Given the description of an element on the screen output the (x, y) to click on. 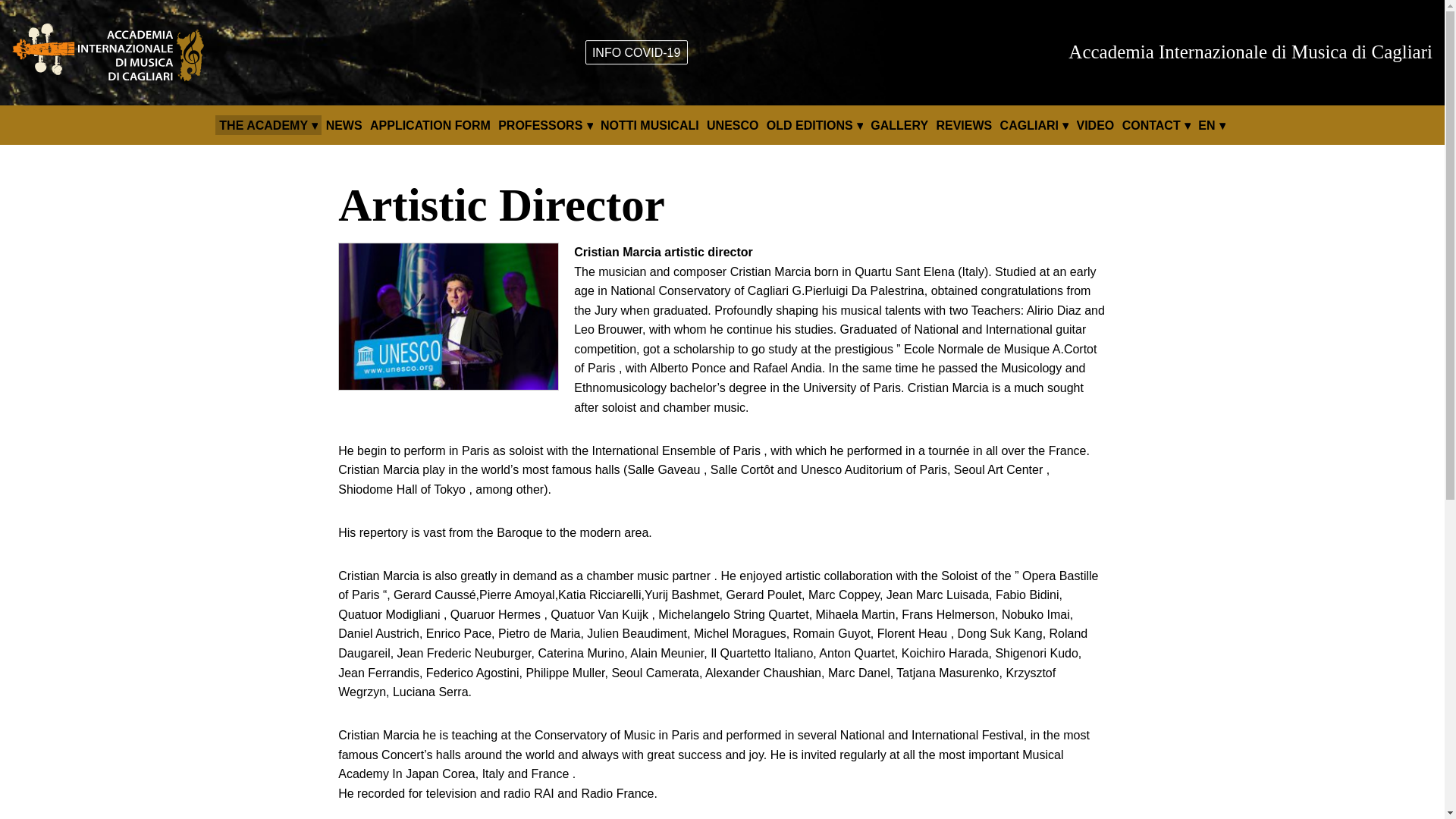
THE ACADEMY (268, 125)
INFO COVID-19 (636, 52)
PROFESSORS (544, 125)
NEWS (344, 125)
OLD EDITIONS (815, 125)
APPLICATION FORM (429, 125)
UNESCO (732, 125)
NOTTI MUSICALI (648, 125)
